Given the description of an element on the screen output the (x, y) to click on. 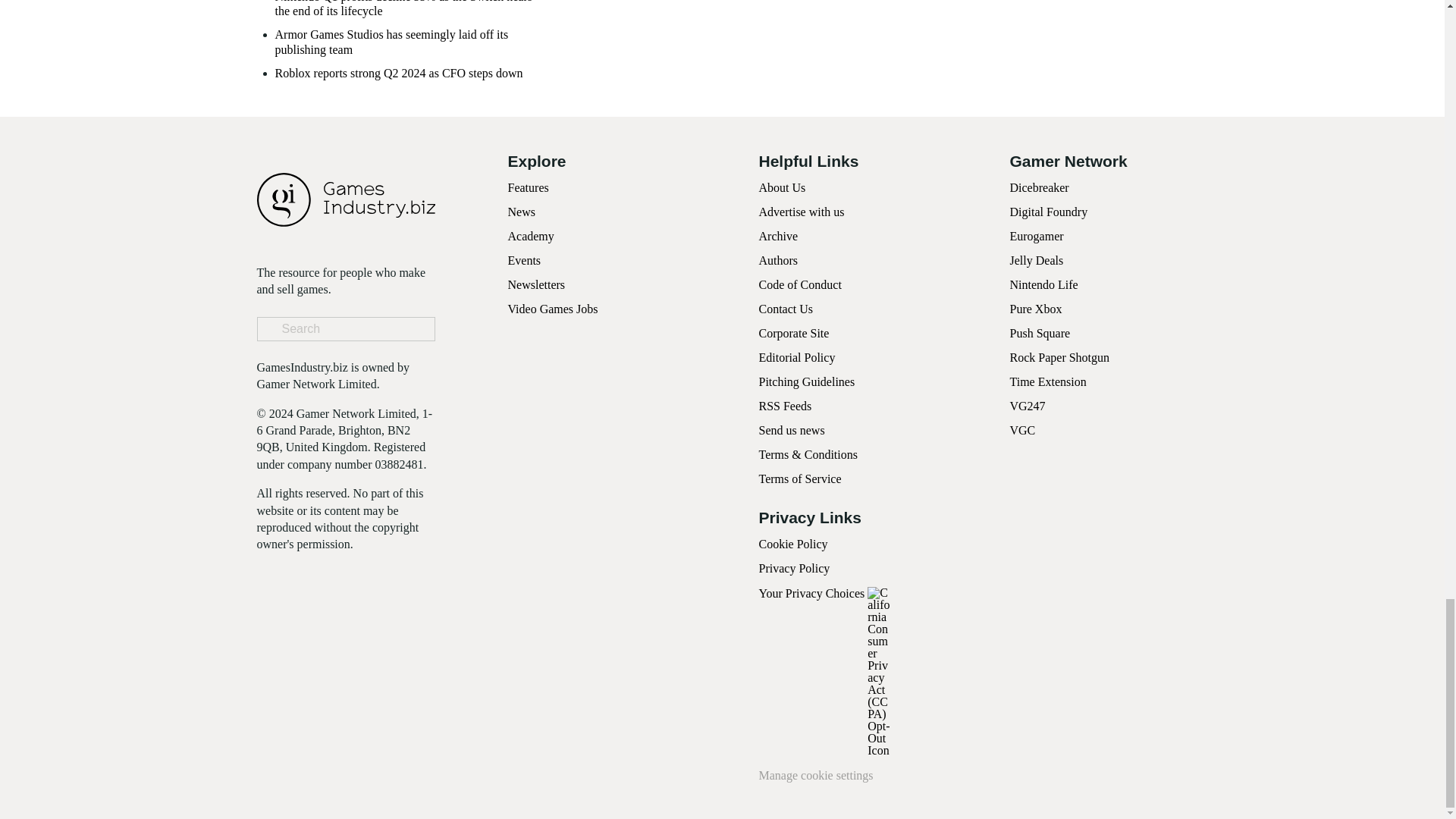
Video Games Jobs (553, 308)
Events (524, 259)
News (521, 211)
Newsletters (537, 284)
Roblox reports strong Q2 2024 as CFO steps down (398, 73)
About Us (781, 187)
Archive (777, 236)
Advertise with us (801, 211)
Features (528, 187)
Academy (531, 236)
